Given the description of an element on the screen output the (x, y) to click on. 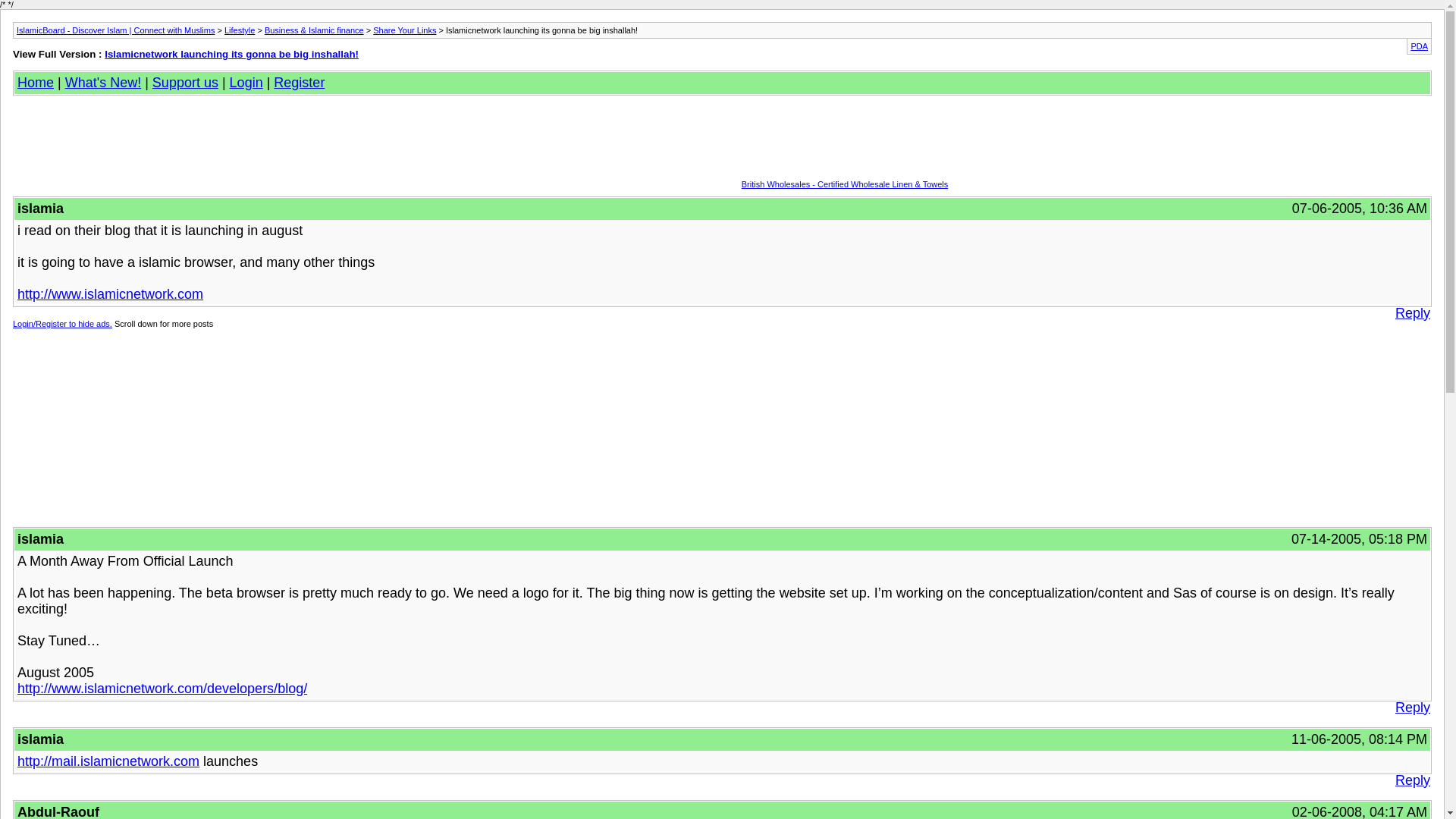
Home (35, 82)
Register (298, 82)
PDA (1419, 45)
Islamicnetwork launching its gonna be big inshallah! (231, 53)
Reply (1411, 780)
Reply (1411, 707)
What's New! (103, 82)
Login (246, 82)
Reply (1411, 313)
Share Your Links (403, 30)
3rd party ad content (617, 149)
3rd party ad content (702, 426)
Support us (185, 82)
Lifestyle (239, 30)
